Given the description of an element on the screen output the (x, y) to click on. 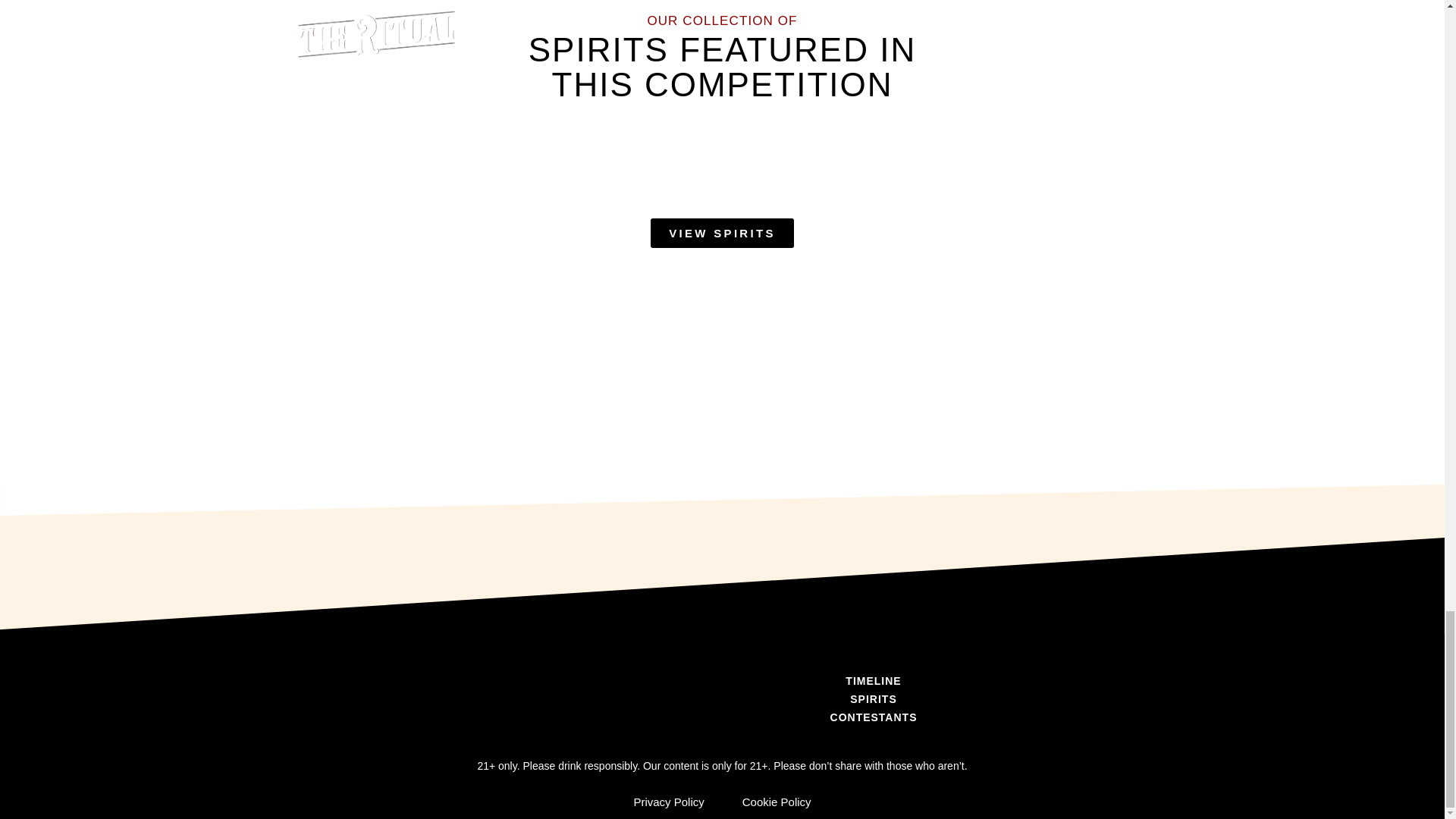
SPIRITS (873, 699)
TIMELINE (873, 680)
VIEW SPIRITS (721, 233)
